Given the description of an element on the screen output the (x, y) to click on. 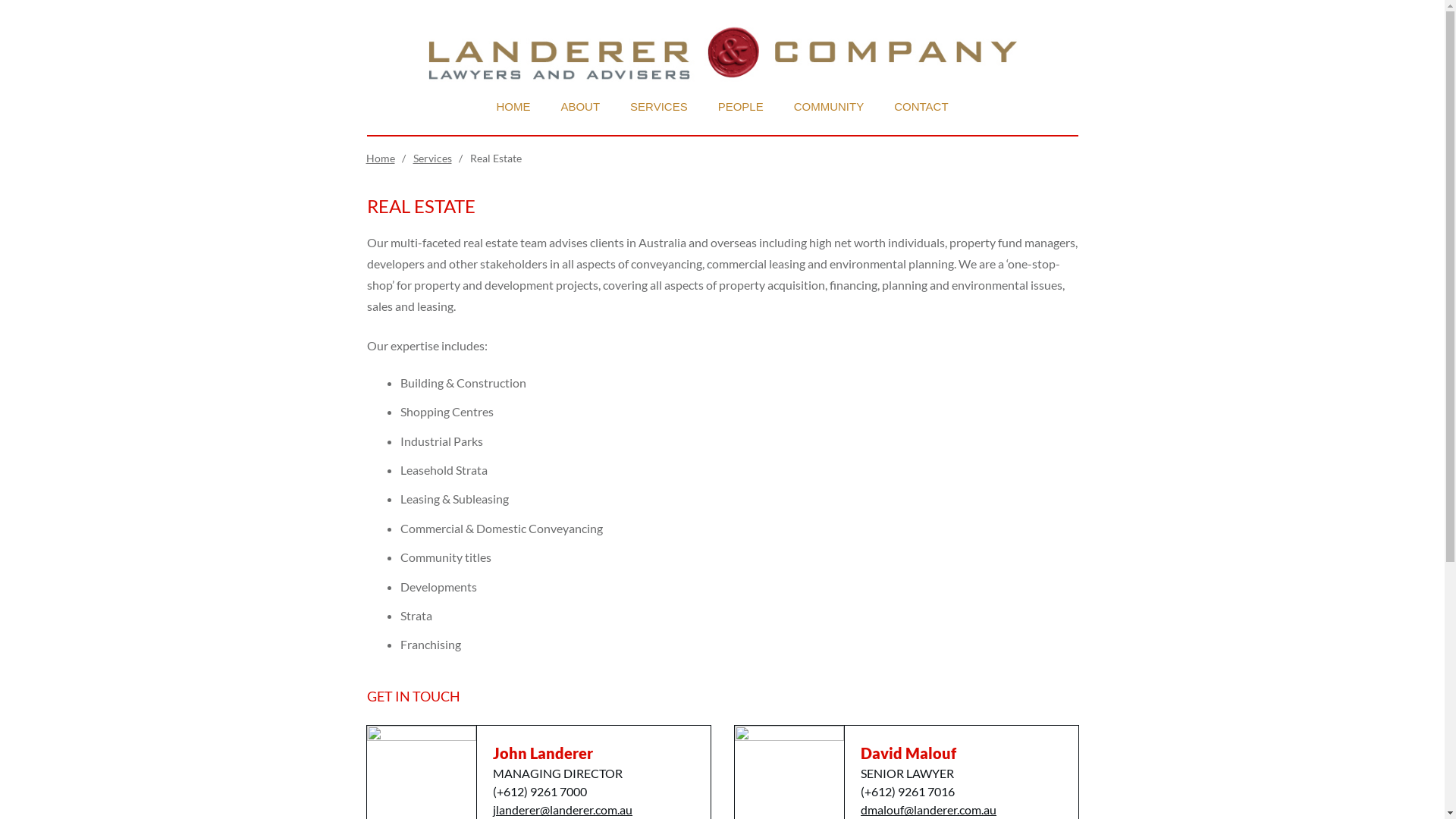
PEOPLE Element type: text (740, 106)
HOME Element type: text (512, 106)
jlanderer@landerer.com.au Element type: text (562, 809)
Services Element type: text (431, 158)
ABOUT Element type: text (579, 106)
David Malouf Element type: text (908, 752)
Home Element type: text (379, 158)
COMMUNITY Element type: text (828, 106)
dmalouf@landerer.com.au Element type: text (928, 809)
CONTACT Element type: text (920, 106)
SERVICES Element type: text (658, 106)
John Landerer Element type: text (542, 752)
